Given the description of an element on the screen output the (x, y) to click on. 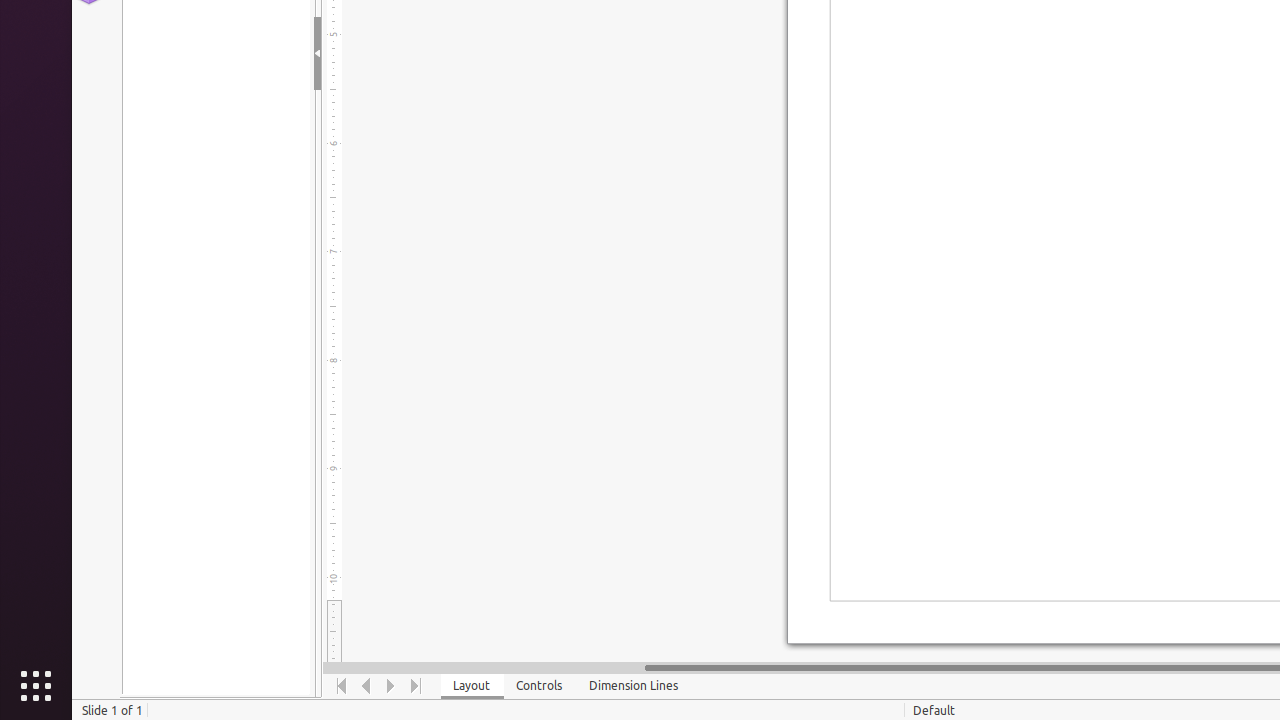
Move Left Element type: push-button (366, 686)
Move Right Element type: push-button (391, 686)
Move To End Element type: push-button (416, 686)
